Given the description of an element on the screen output the (x, y) to click on. 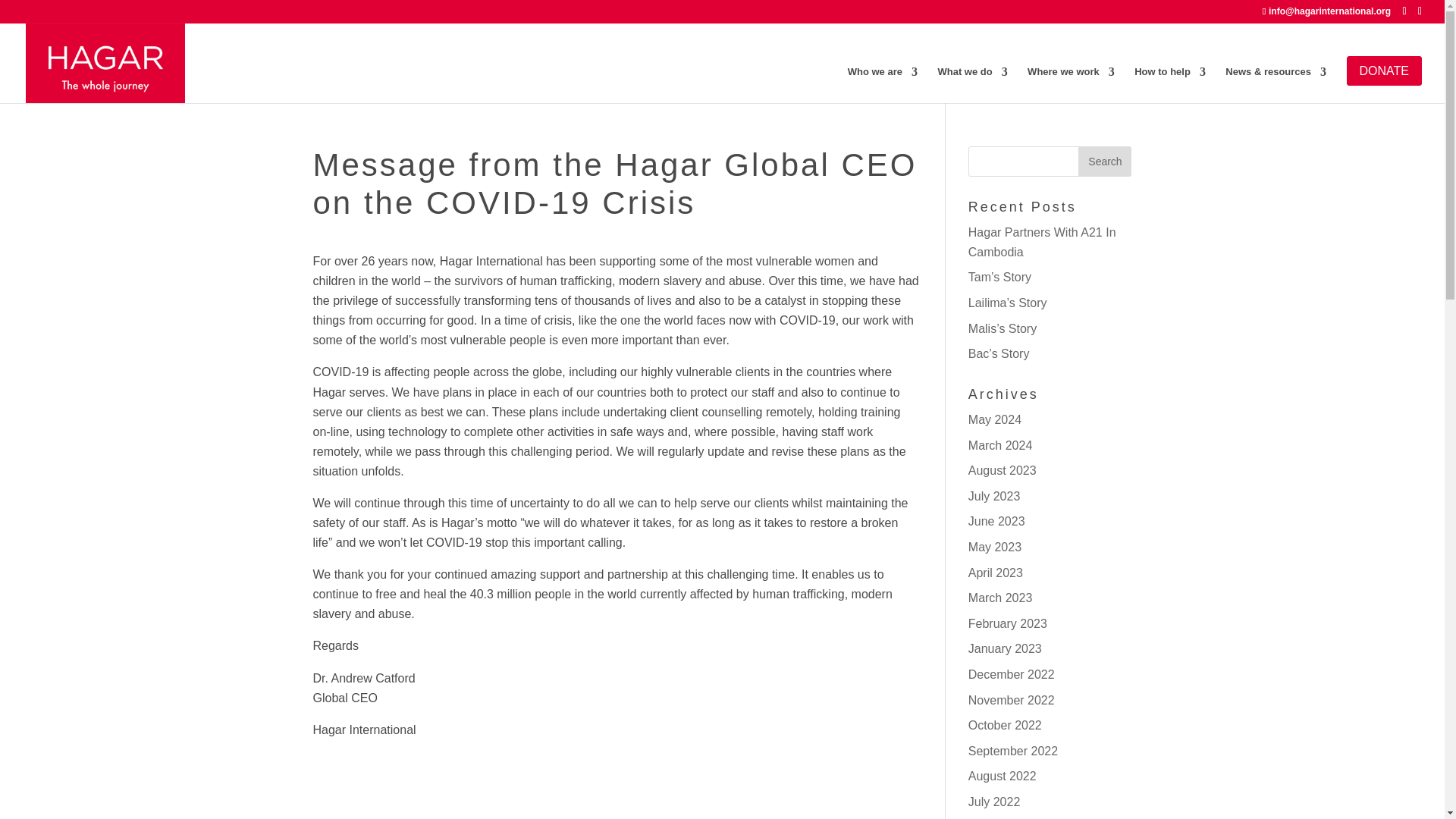
How to help (1169, 80)
What we do (972, 80)
Search (1104, 161)
Who we are (882, 80)
Where we work (1071, 80)
